Given the description of an element on the screen output the (x, y) to click on. 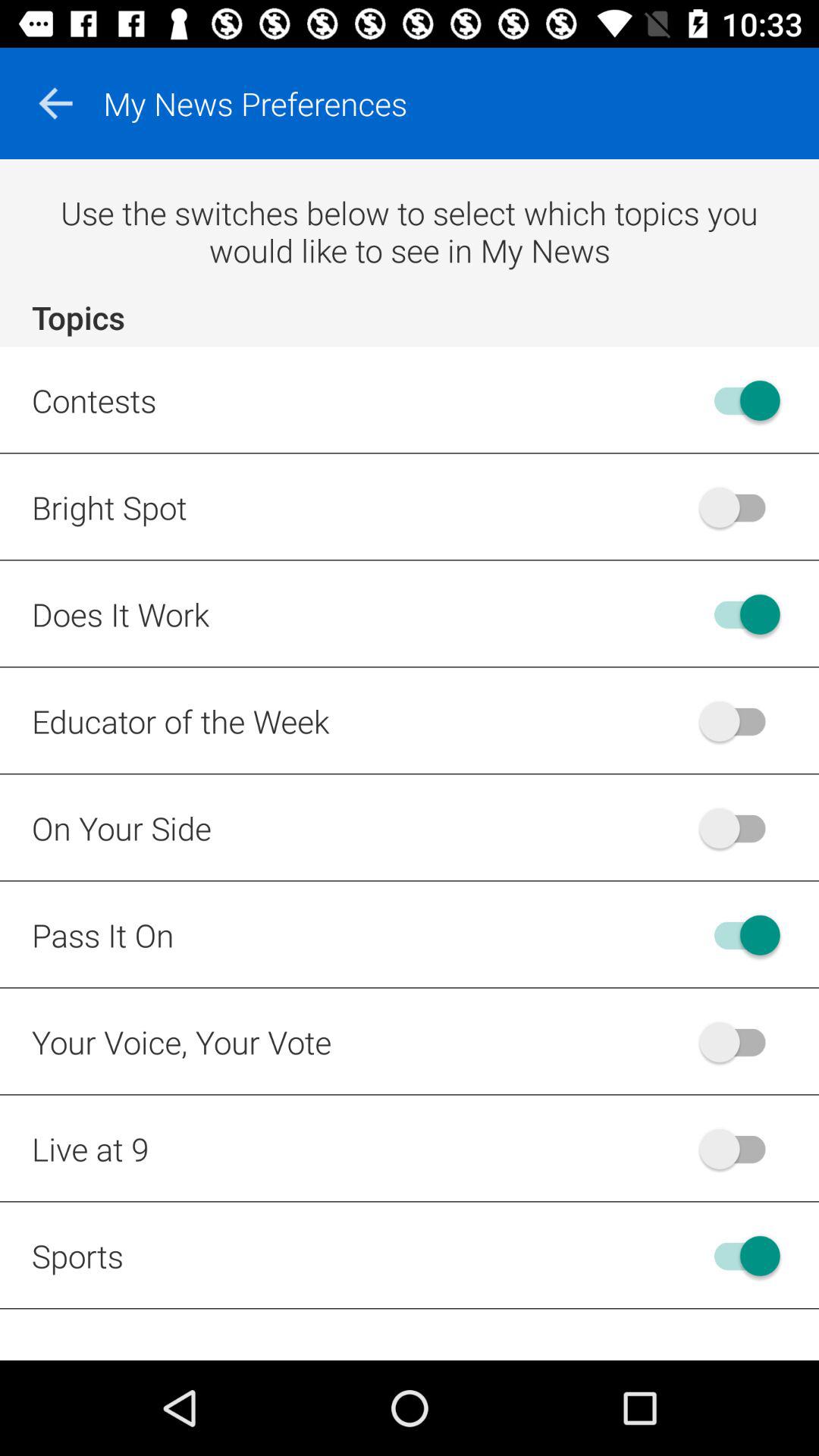
toggle pass it on option (739, 934)
